Given the description of an element on the screen output the (x, y) to click on. 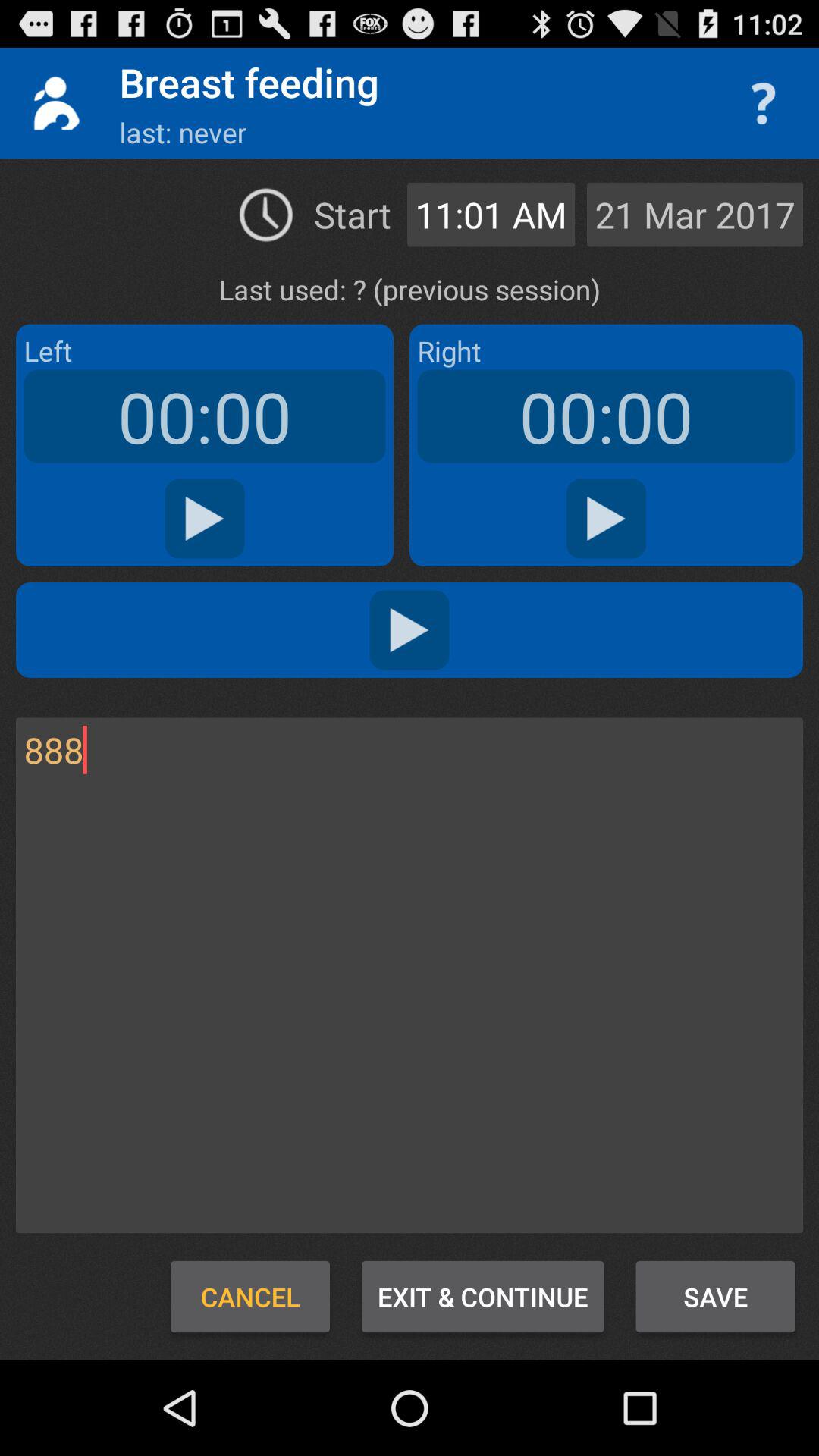
play right (606, 518)
